Given the description of an element on the screen output the (x, y) to click on. 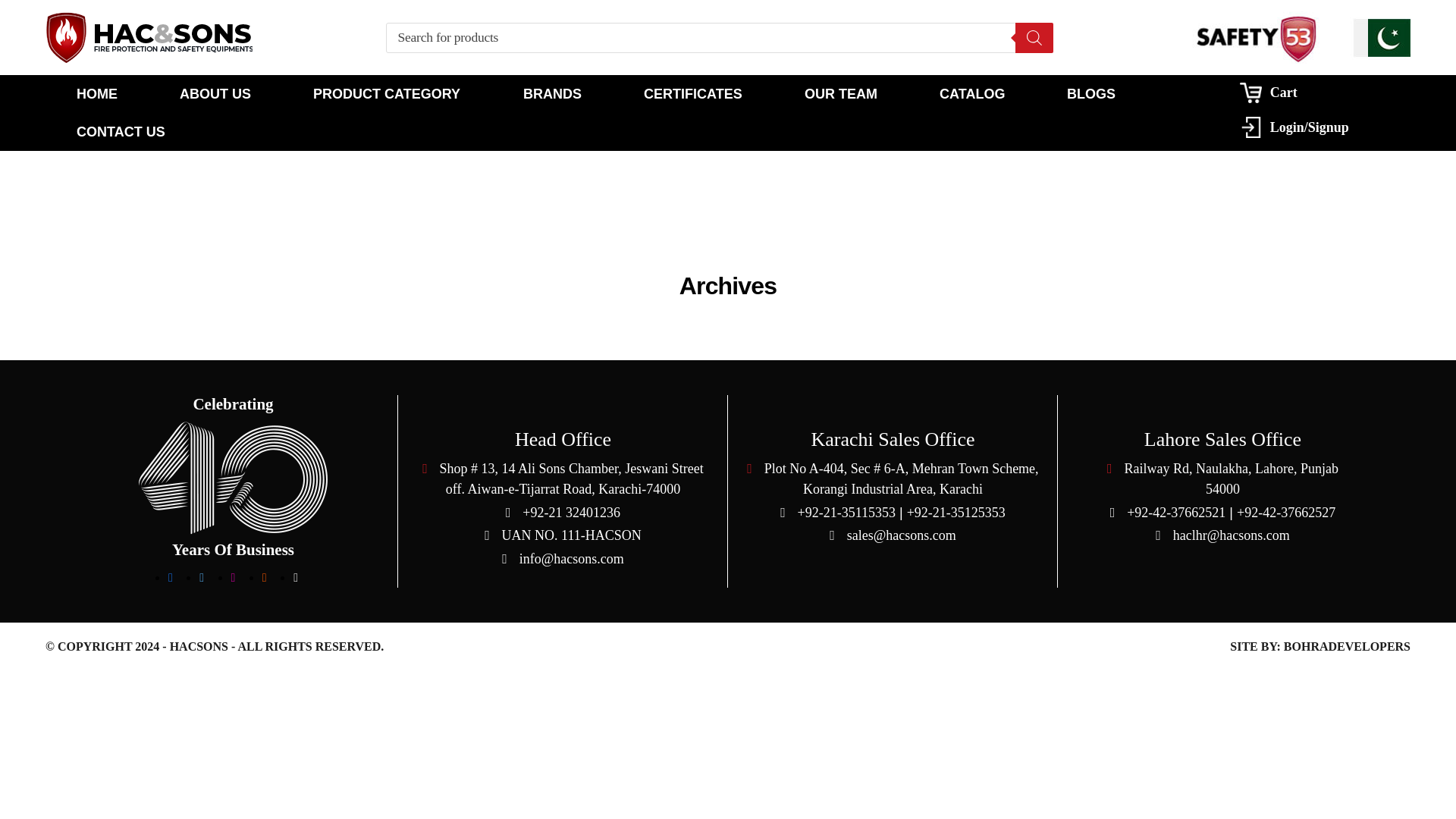
HOME (96, 94)
PRODUCT CATEGORY (387, 94)
ABOUT US (215, 94)
